Given the description of an element on the screen output the (x, y) to click on. 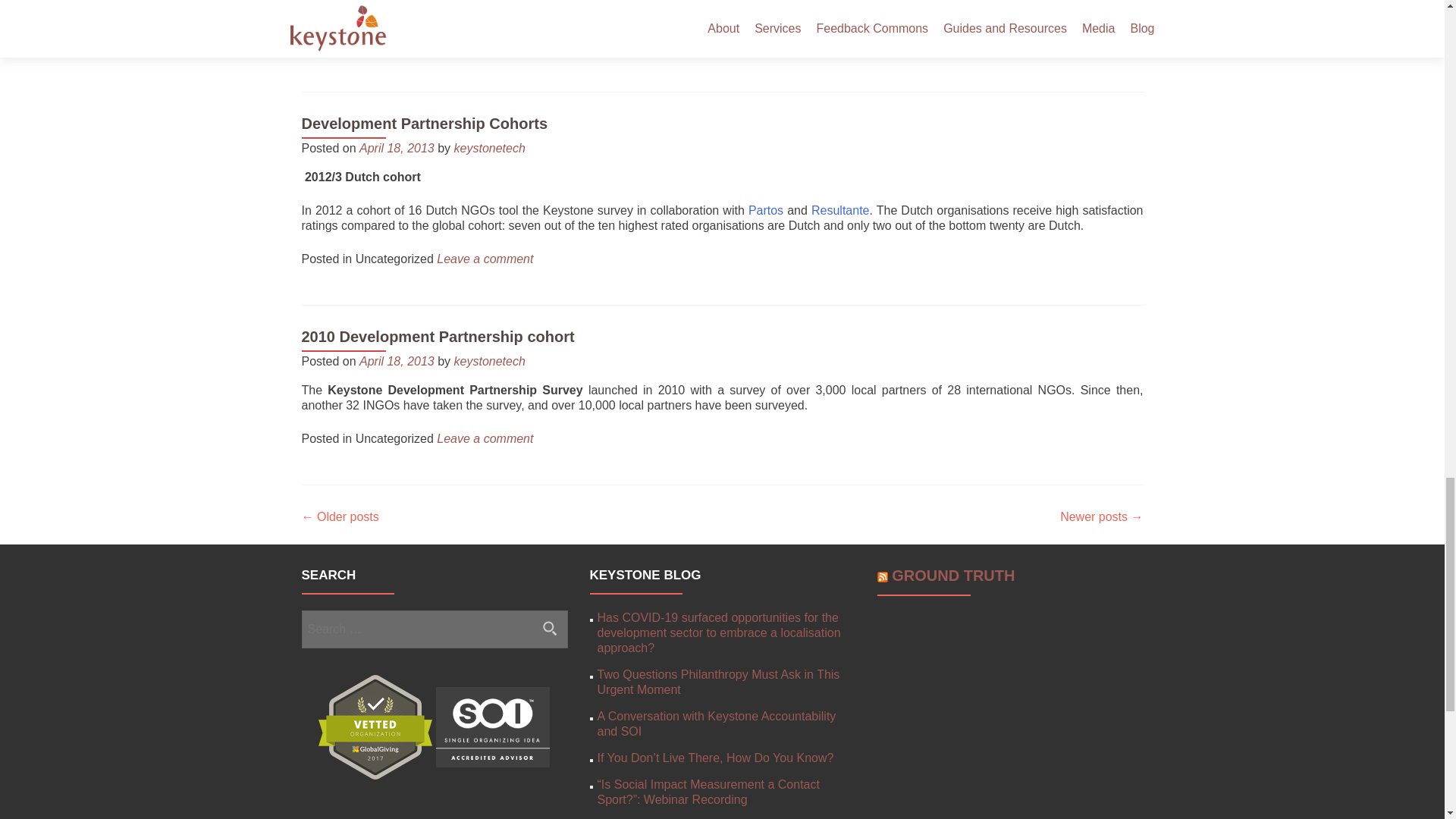
Search (549, 627)
Search (549, 627)
